Given the description of an element on the screen output the (x, y) to click on. 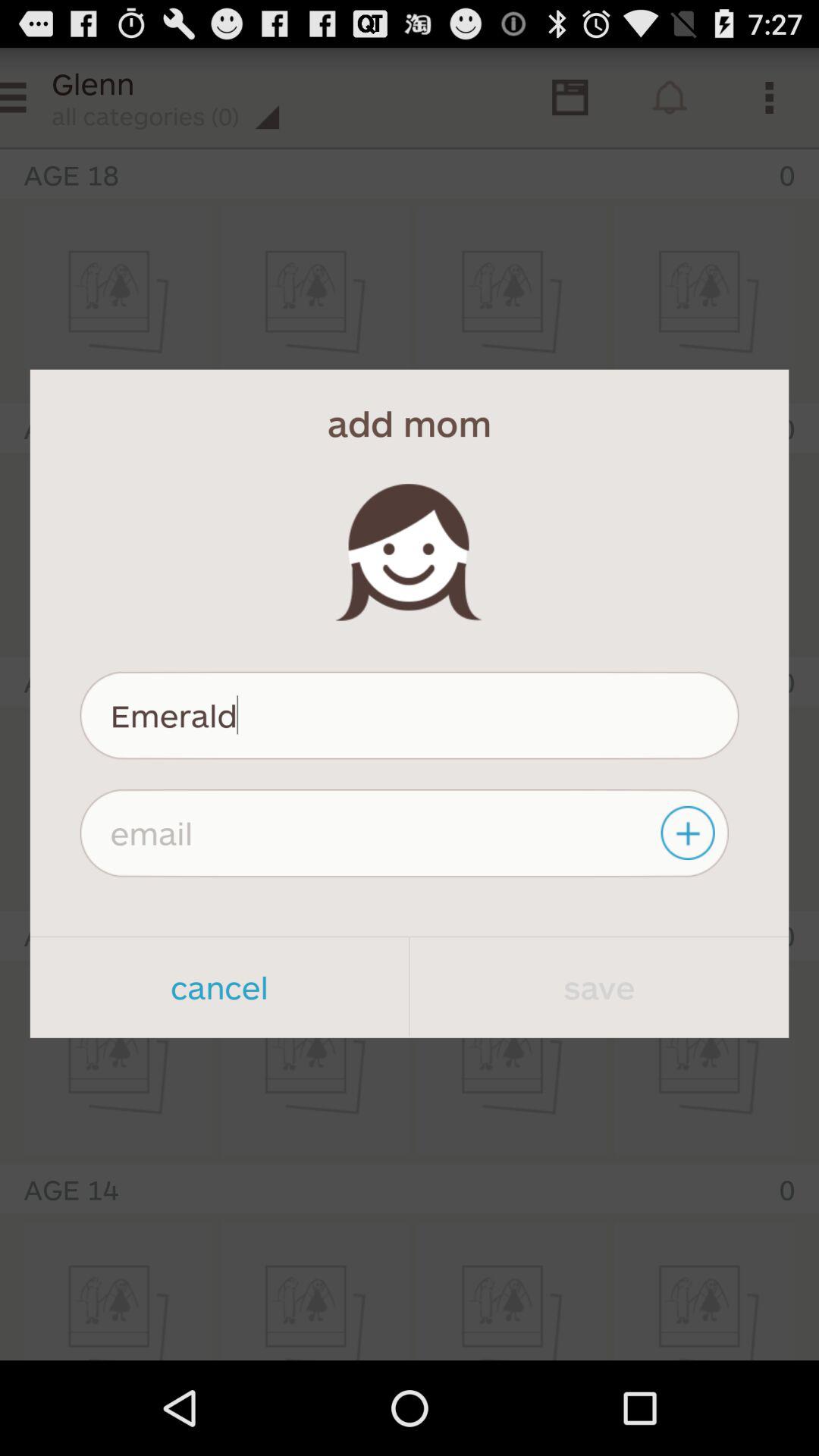
tap the icon next to the cancel (598, 986)
